Given the description of an element on the screen output the (x, y) to click on. 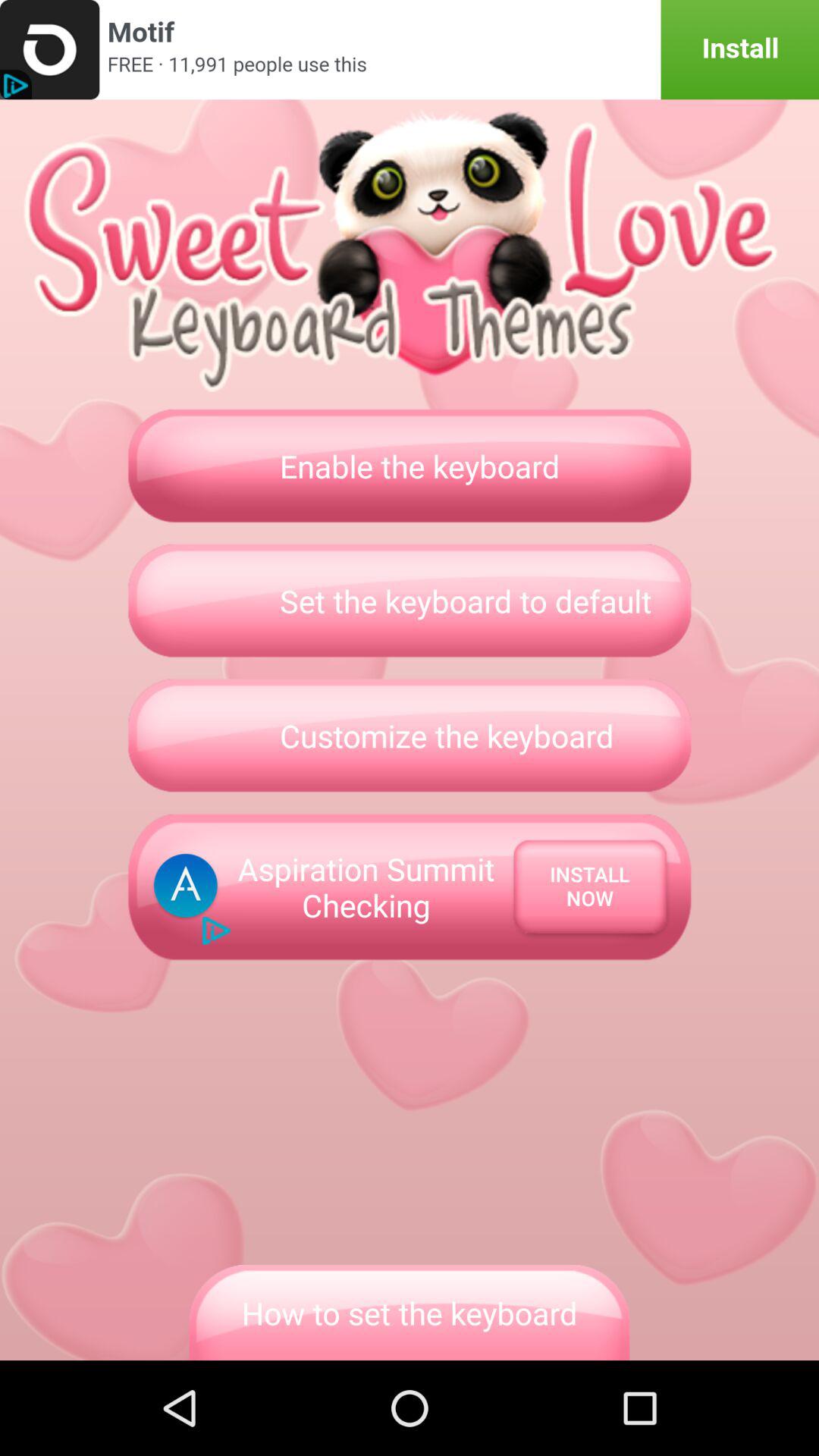
advertisement (409, 49)
